Given the description of an element on the screen output the (x, y) to click on. 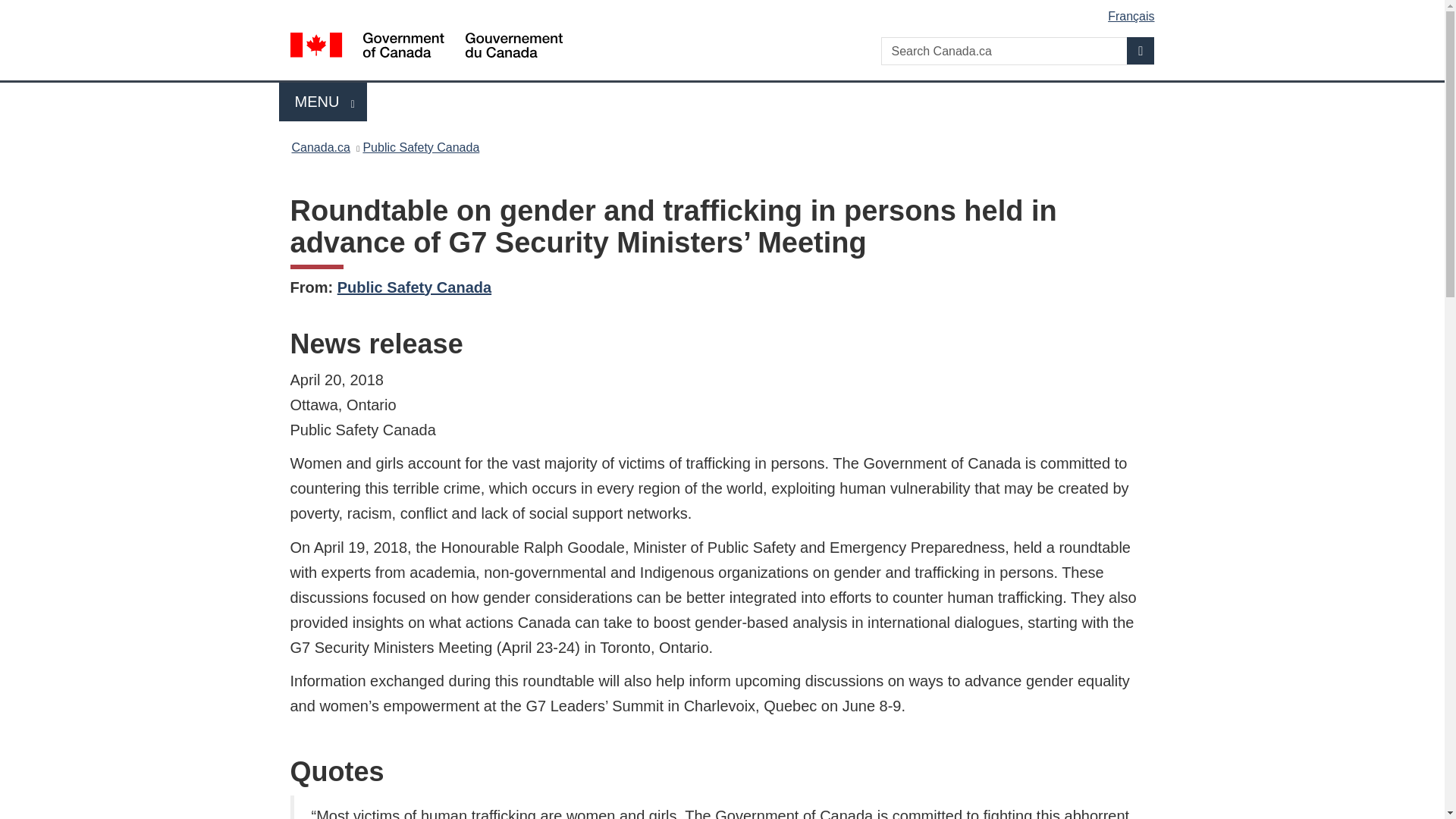
Canada.ca (320, 147)
Search (1140, 50)
Public Safety Canada (414, 287)
Public Safety Canada (322, 101)
Skip to main content (420, 147)
